Given the description of an element on the screen output the (x, y) to click on. 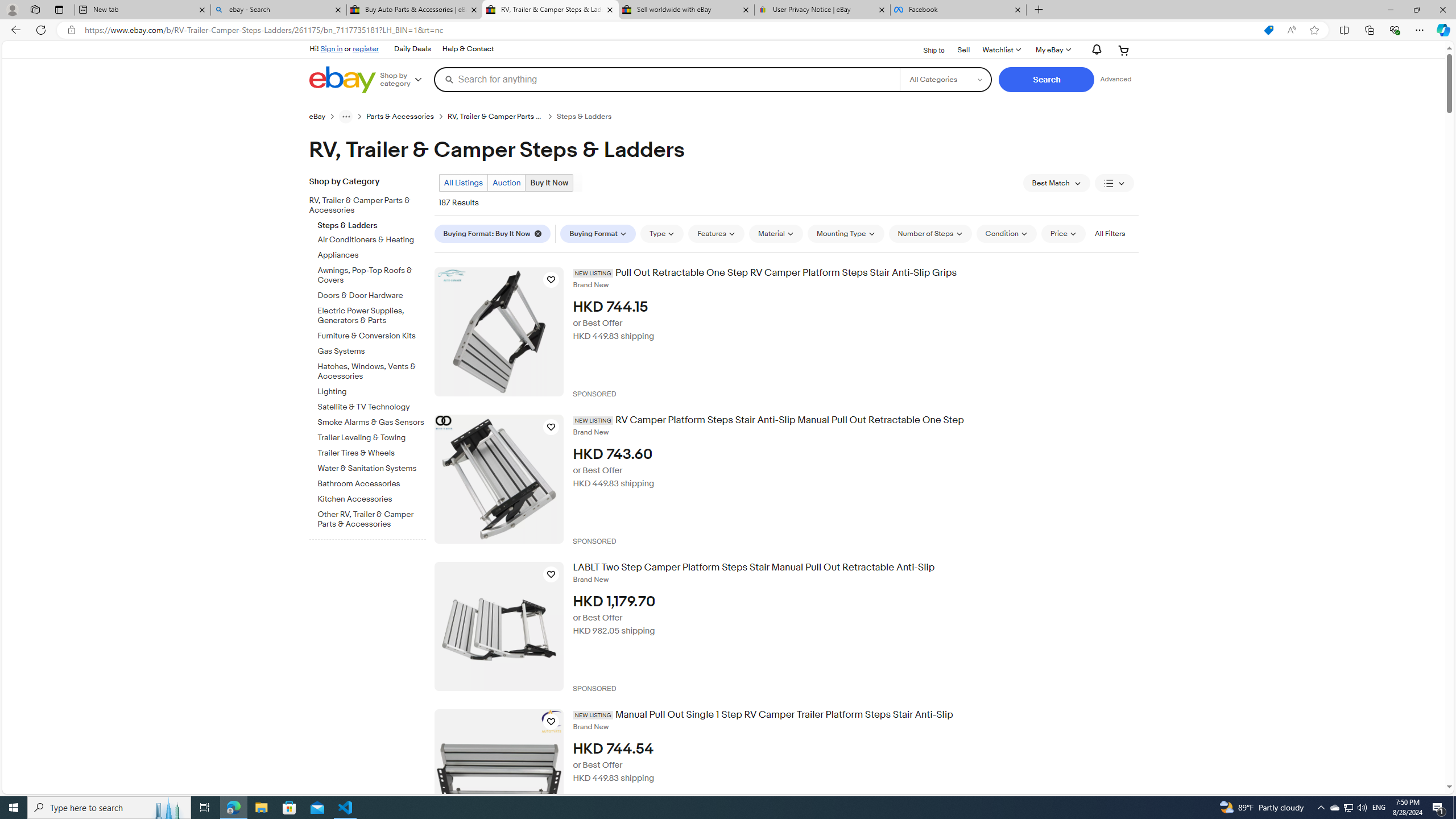
Gas Systems (371, 349)
Ship to (926, 49)
Help & Contact (467, 49)
